Given the description of an element on the screen output the (x, y) to click on. 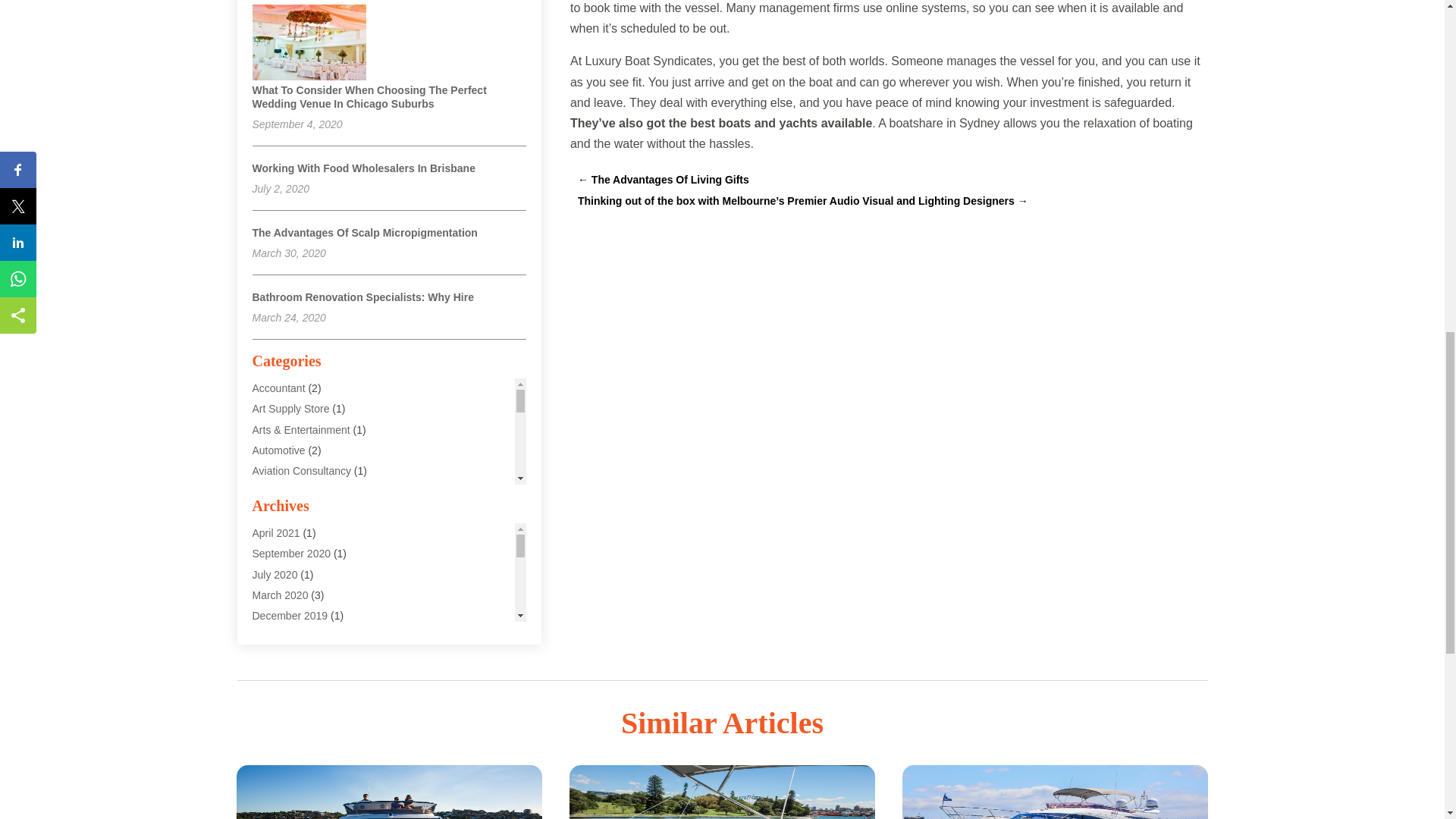
Boat Rental Service (298, 553)
Aviation Consultancy (300, 470)
Beauty-Clinic (282, 511)
Working With Food Wholesalers In Brisbane (362, 168)
Bathroom Renovation Specialists: Why Hire (362, 297)
Bathroom Renovation (302, 491)
Art Supply Store (290, 408)
Cleaning Supplies Store (308, 614)
Computer Services (296, 656)
Business (273, 573)
Automotive (277, 450)
Blinds Shop (279, 532)
Cleaning (272, 594)
Computer And Internet (304, 635)
